Given the description of an element on the screen output the (x, y) to click on. 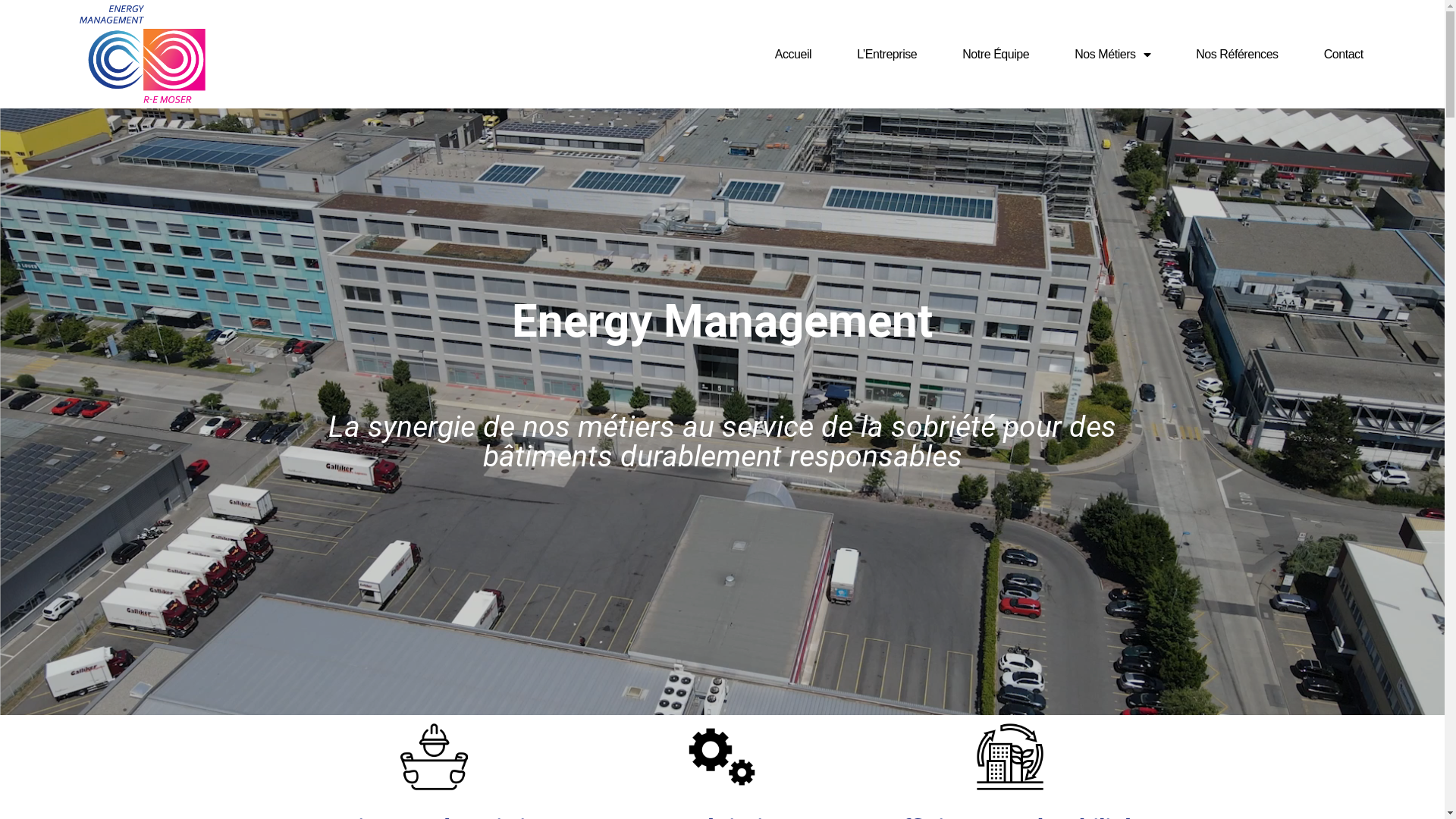
Contact Element type: text (1343, 54)
Accueil Element type: text (793, 54)
